Given the description of an element on the screen output the (x, y) to click on. 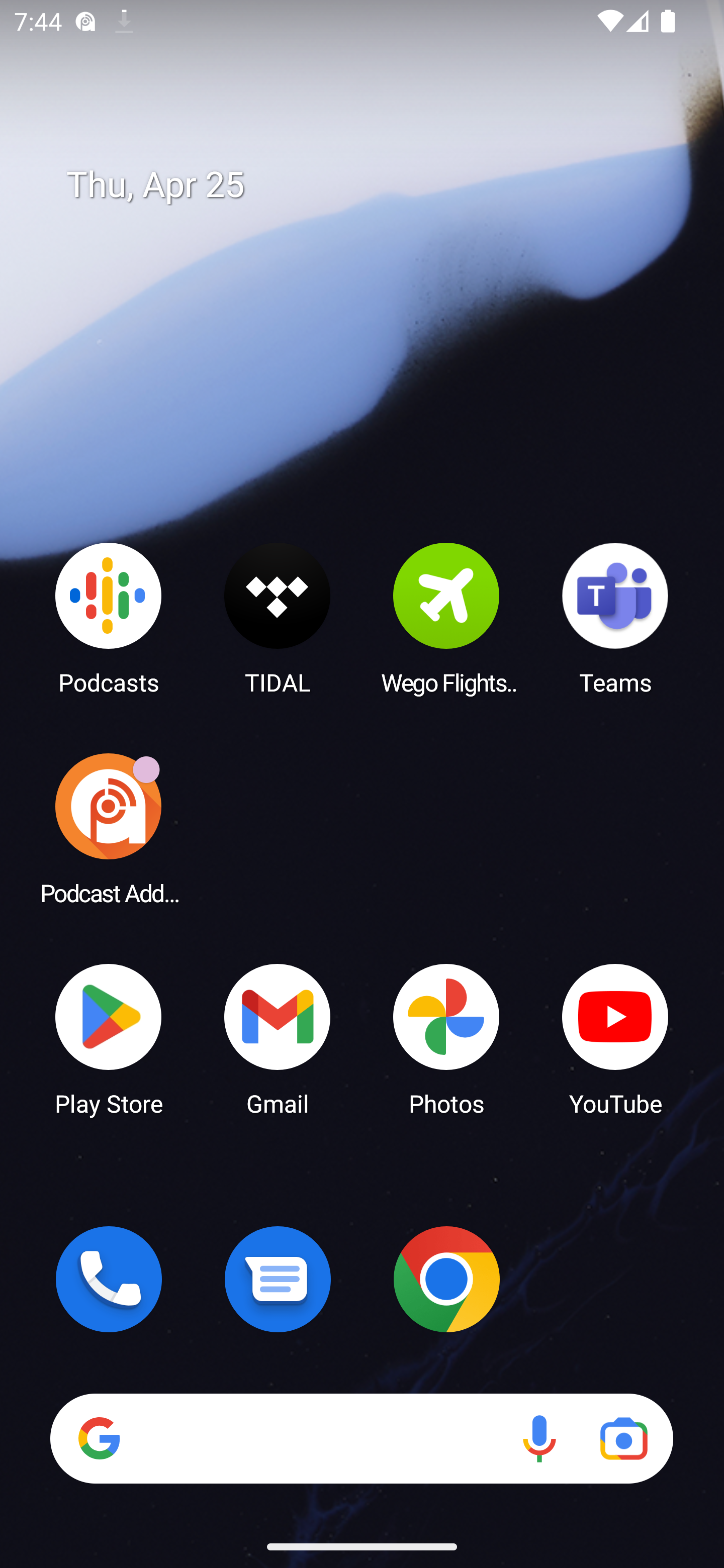
Thu, Apr 25 (375, 184)
Podcasts (108, 617)
TIDAL (277, 617)
Wego Flights & Hotels (445, 617)
Teams (615, 617)
Podcast Addict Podcast Addict has 19 notifications (108, 828)
Play Store (108, 1038)
Gmail (277, 1038)
Photos (445, 1038)
YouTube (615, 1038)
Phone (108, 1279)
Messages (277, 1279)
Chrome (446, 1279)
Search Voice search Google Lens (361, 1438)
Voice search (539, 1438)
Google Lens (623, 1438)
